Given the description of an element on the screen output the (x, y) to click on. 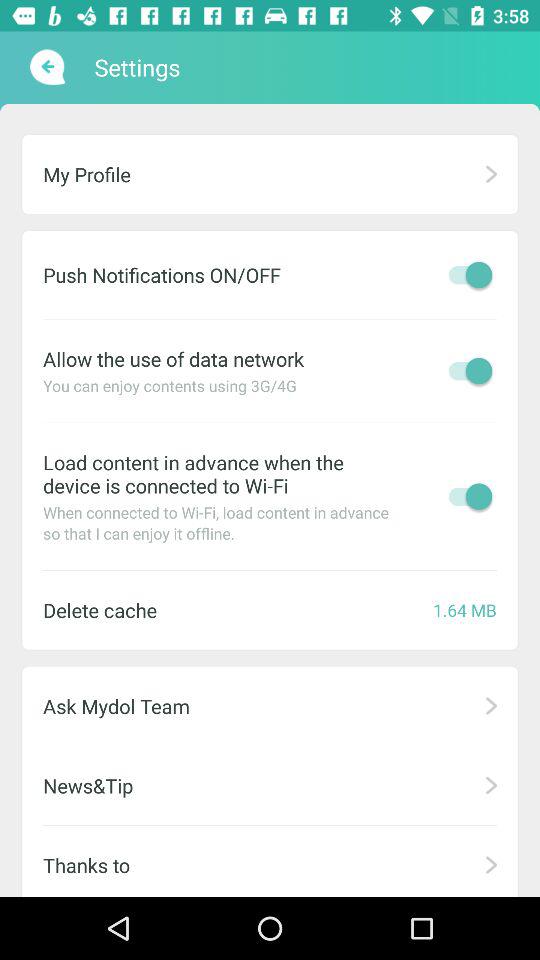
launch the item next to the settings item (45, 67)
